Given the description of an element on the screen output the (x, y) to click on. 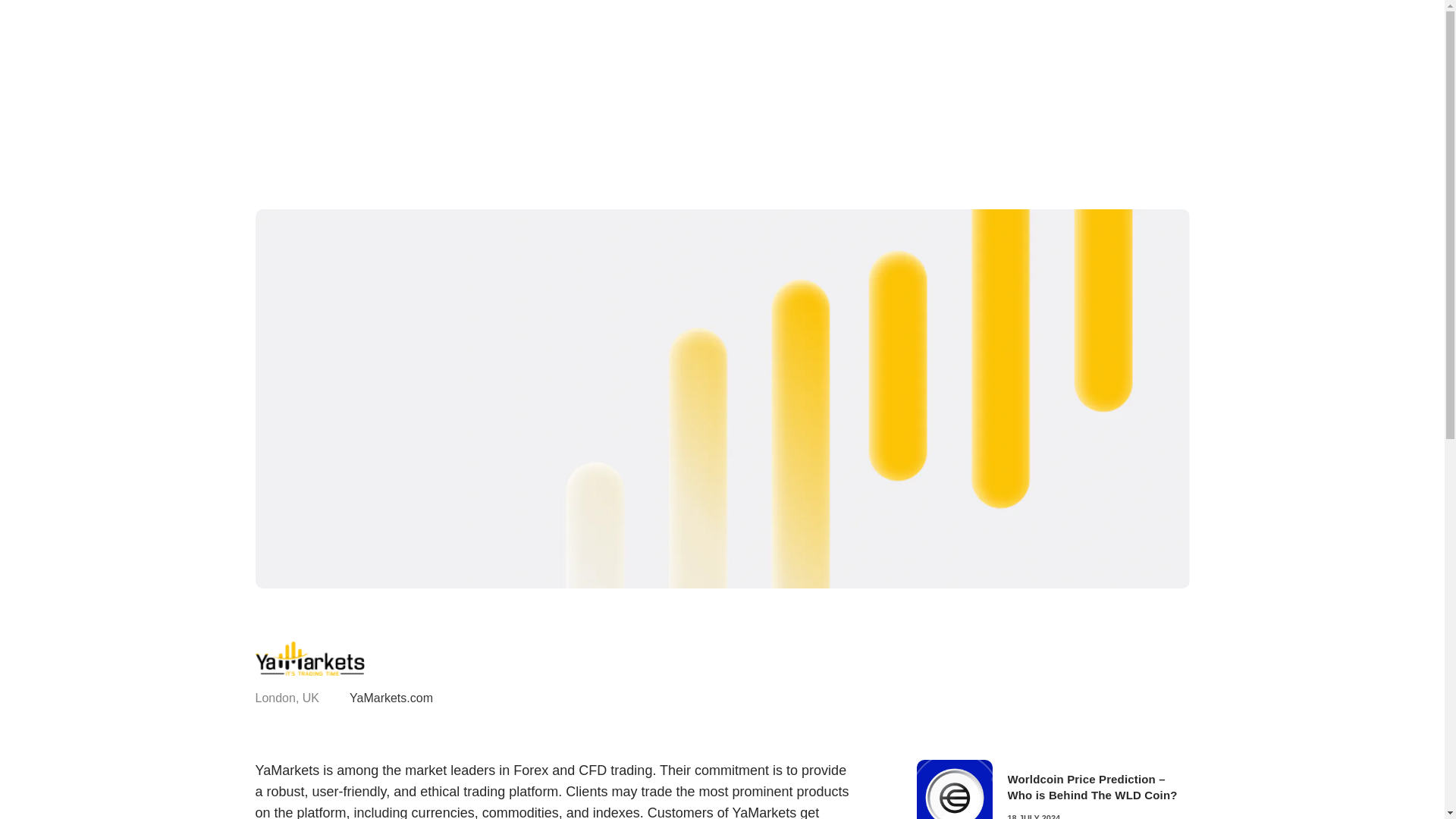
YaMarkets.com (390, 698)
